Given the description of an element on the screen output the (x, y) to click on. 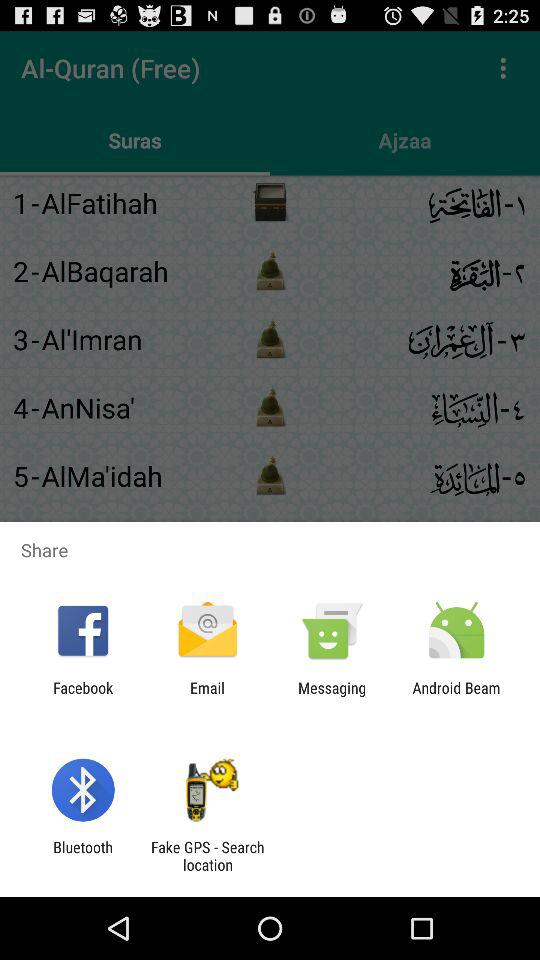
turn off the app next to the android beam icon (332, 696)
